Given the description of an element on the screen output the (x, y) to click on. 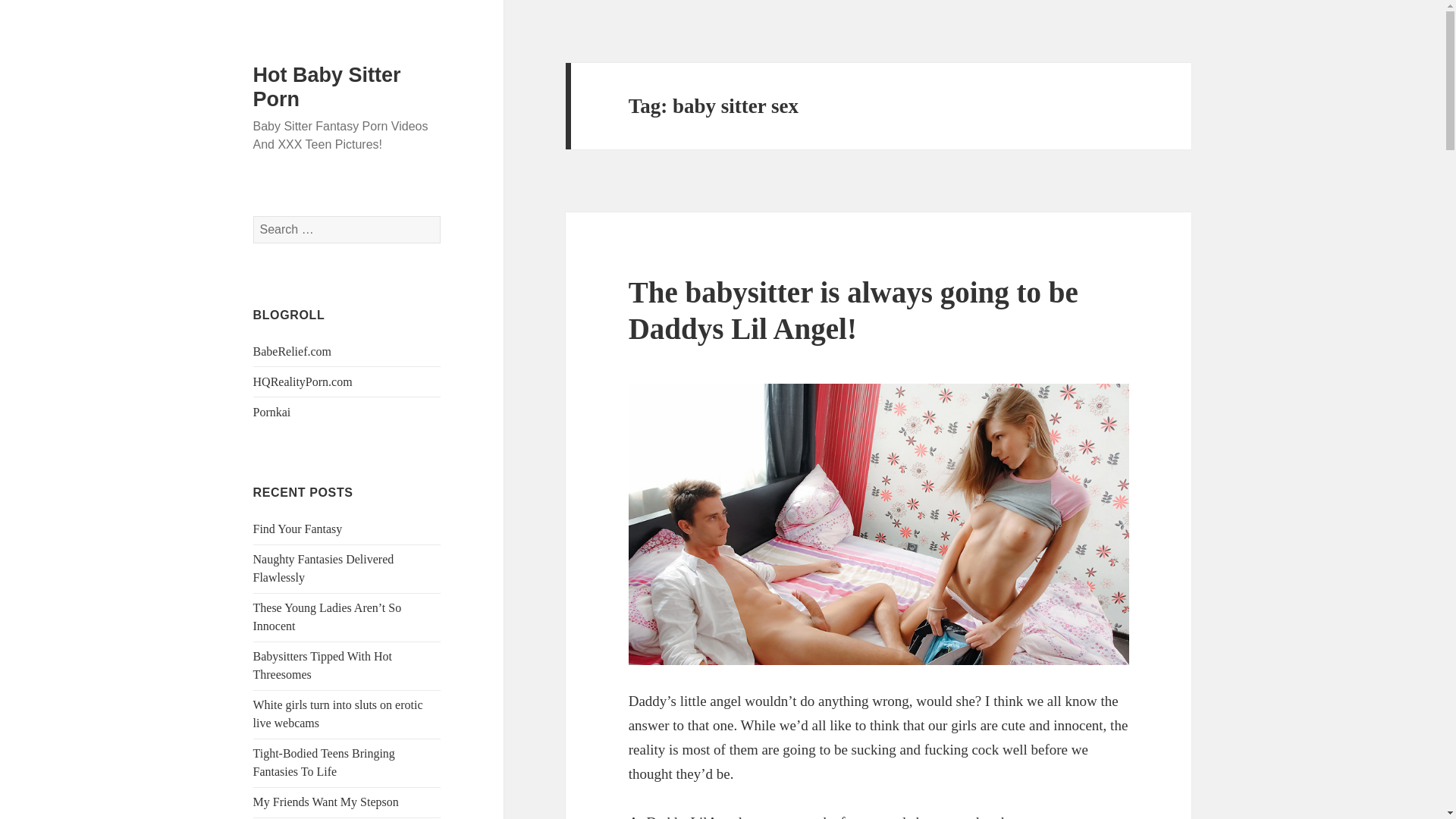
HQRealityPorn.com (302, 381)
BabeRelief.com (292, 350)
Tight-Bodied Teens Bringing Fantasies To Life (323, 762)
Pornkai (272, 411)
Naughty Fantasies Delivered Flawlessly (323, 567)
White girls turn into sluts on erotic live webcams (338, 713)
Hot Baby Sitter Porn (327, 86)
My Friends Want My Stepson (325, 801)
